Given the description of an element on the screen output the (x, y) to click on. 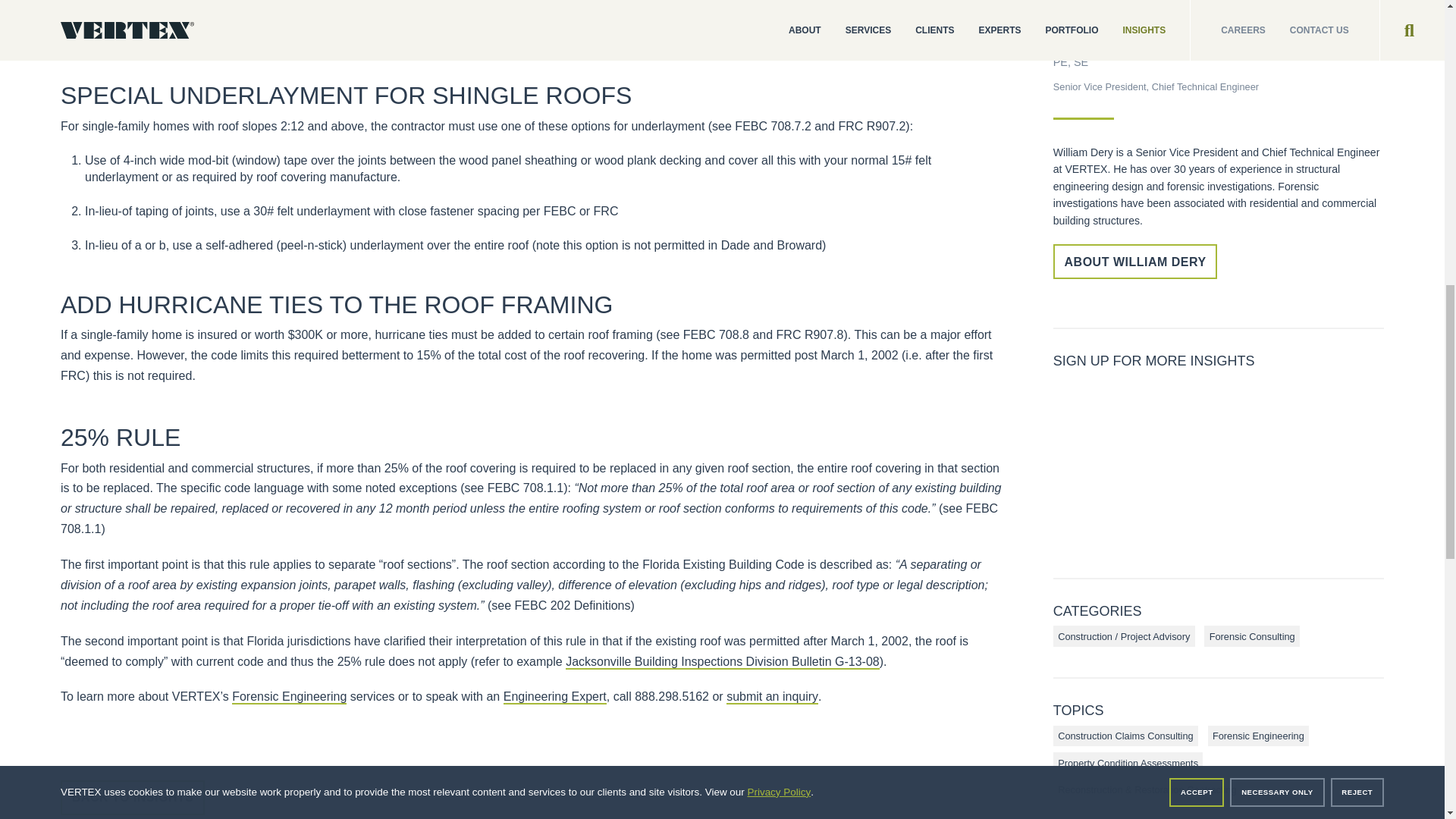
Form 0 (1218, 464)
